Given the description of an element on the screen output the (x, y) to click on. 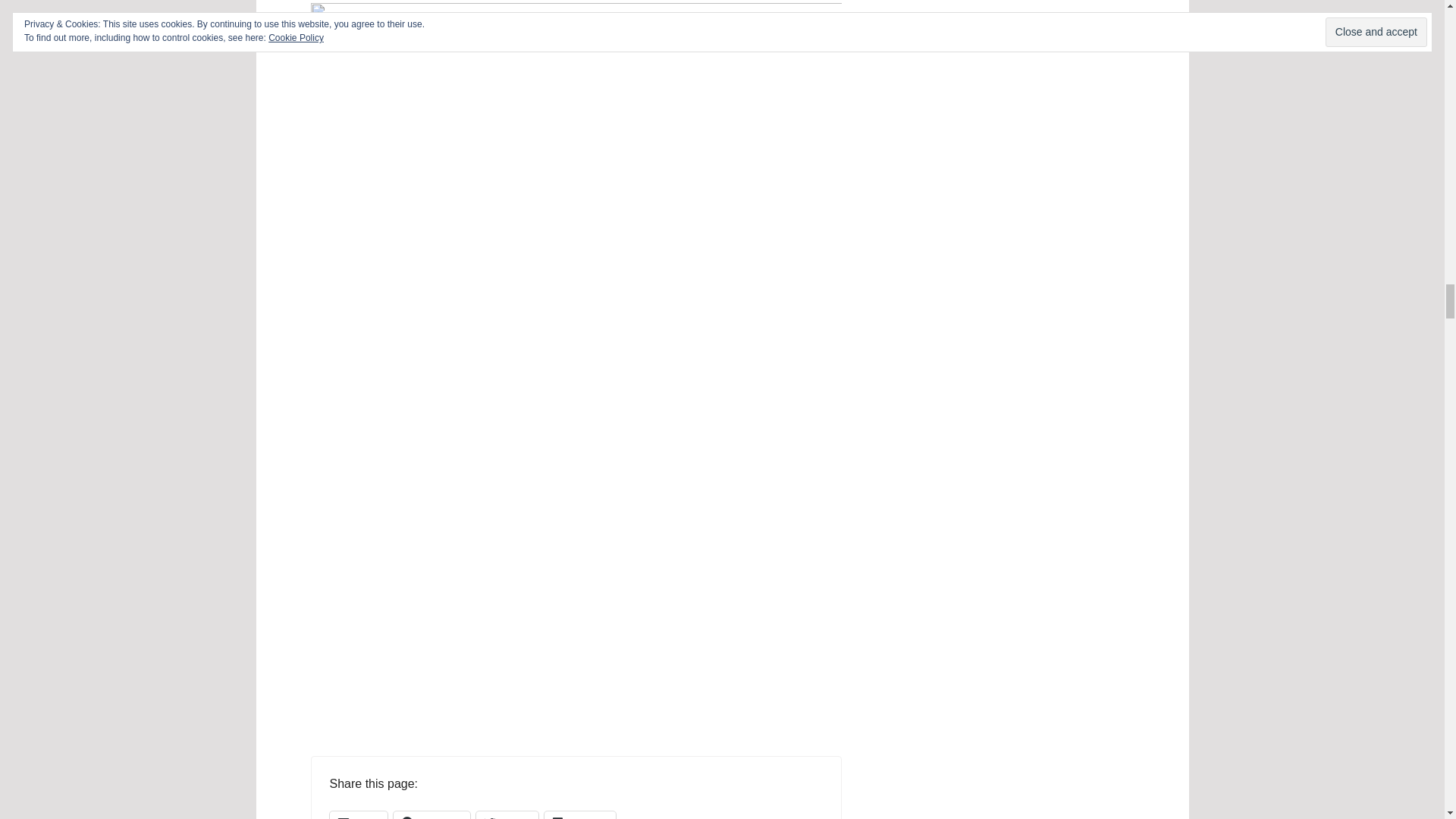
Click to email a link to a friend (358, 815)
Click to share on Facebook (431, 815)
Facebook (431, 815)
Click to share on LinkedIn (579, 815)
Email (358, 815)
Click to share on Twitter (507, 815)
